Given the description of an element on the screen output the (x, y) to click on. 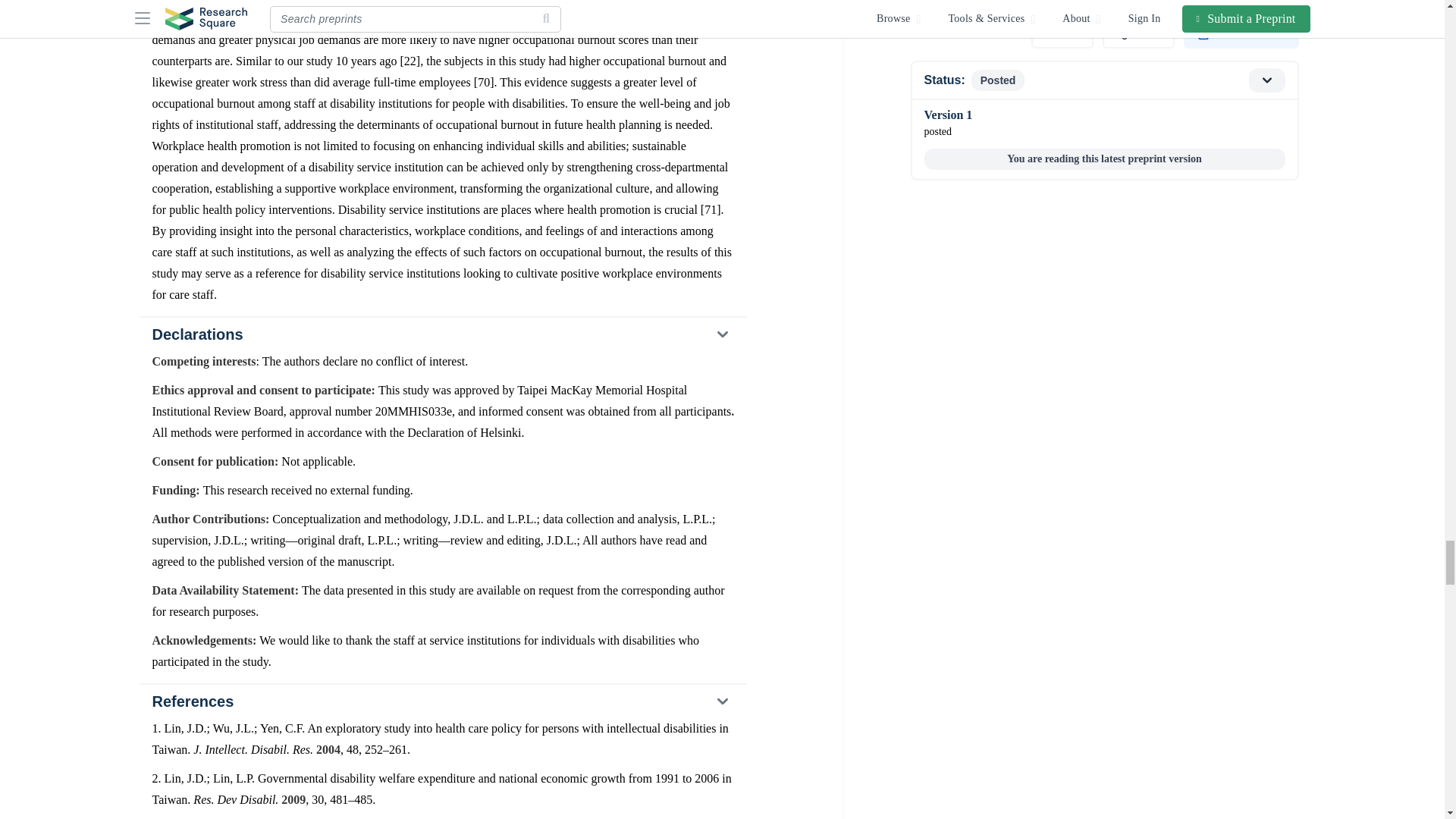
Conclusions (442, 4)
References (442, 701)
Declarations (442, 334)
